Given the description of an element on the screen output the (x, y) to click on. 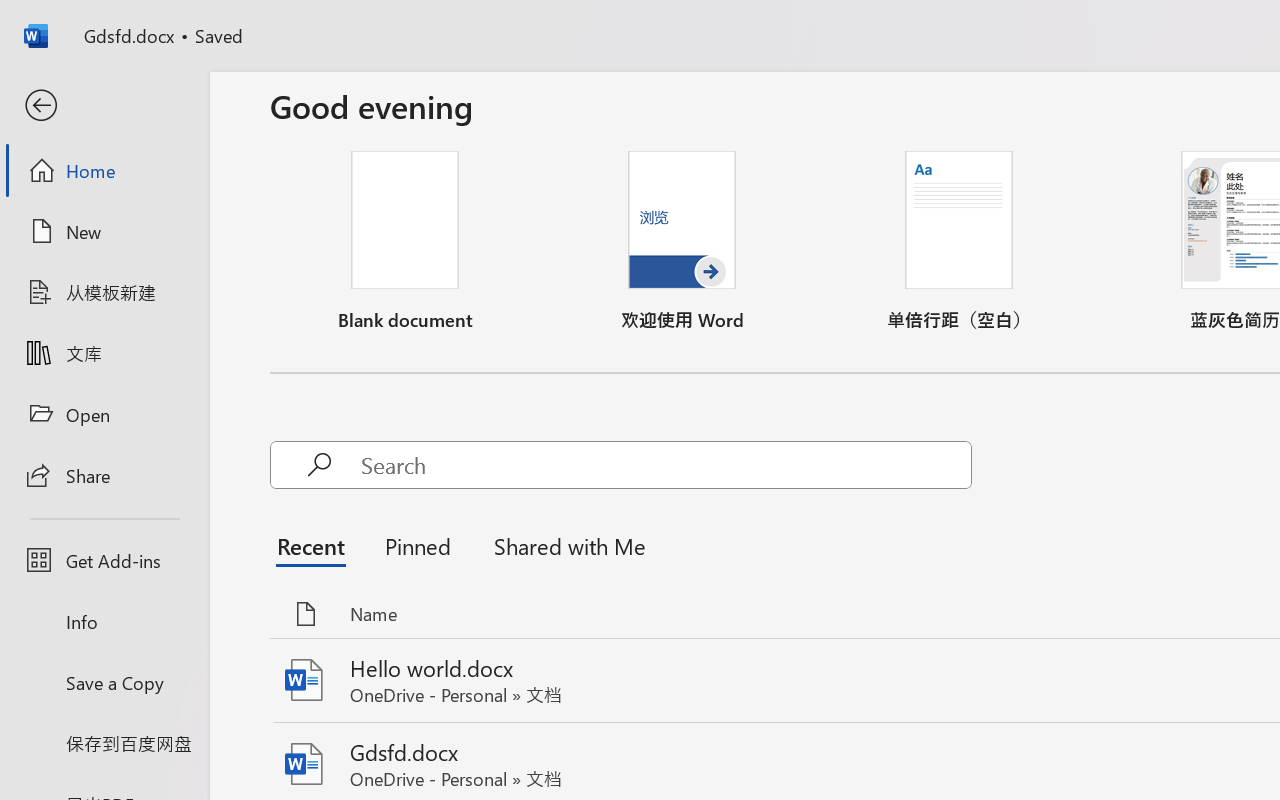
Back (104, 106)
Search (665, 464)
